Given the description of an element on the screen output the (x, y) to click on. 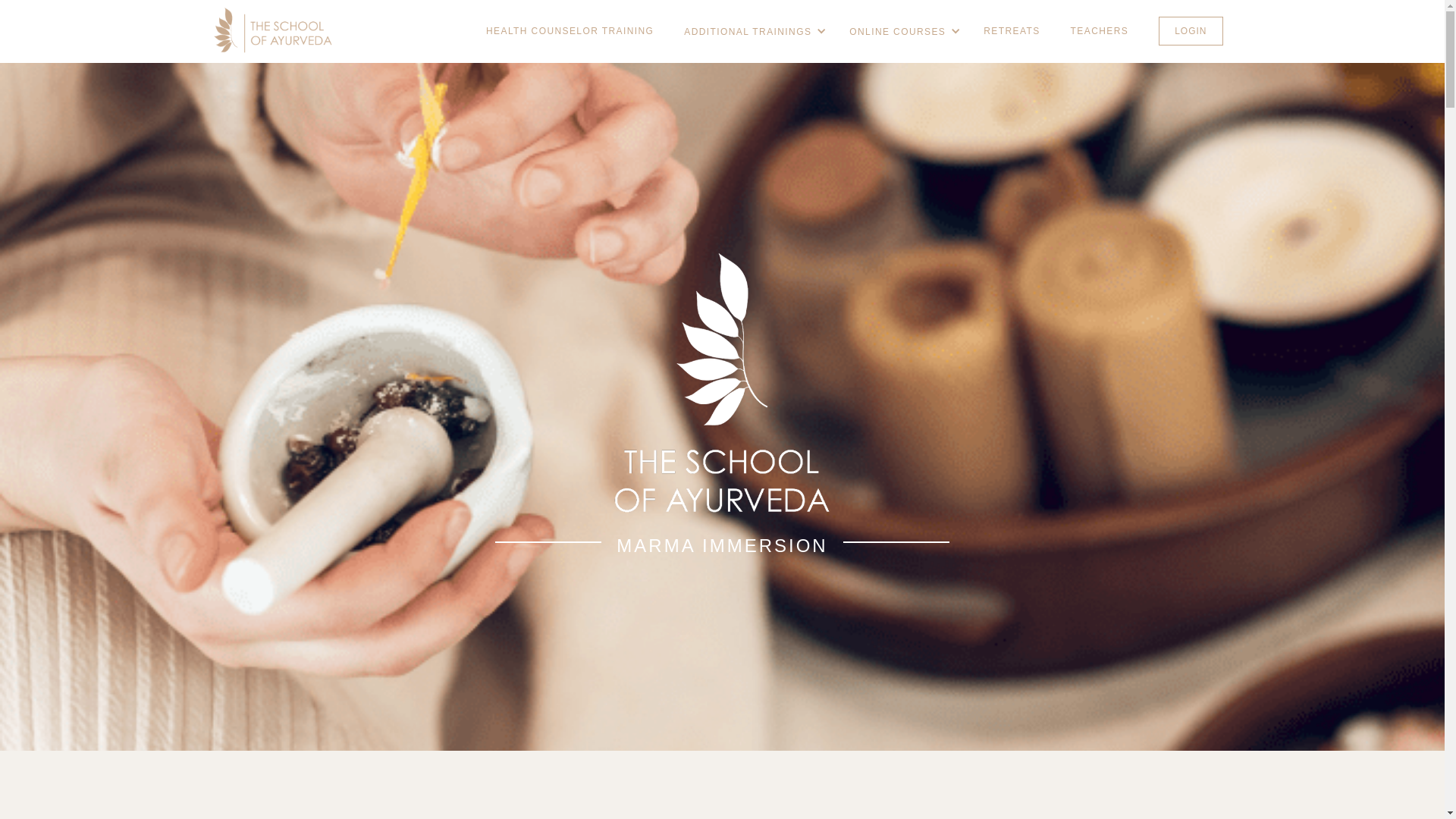
LOGIN (1190, 30)
HEALTH COUNSELOR TRAINING (569, 30)
TEACHERS (1099, 30)
RETREATS (1011, 30)
ONLINE COURSES (896, 31)
ADDITIONAL TRAININGS (747, 31)
